Given the description of an element on the screen output the (x, y) to click on. 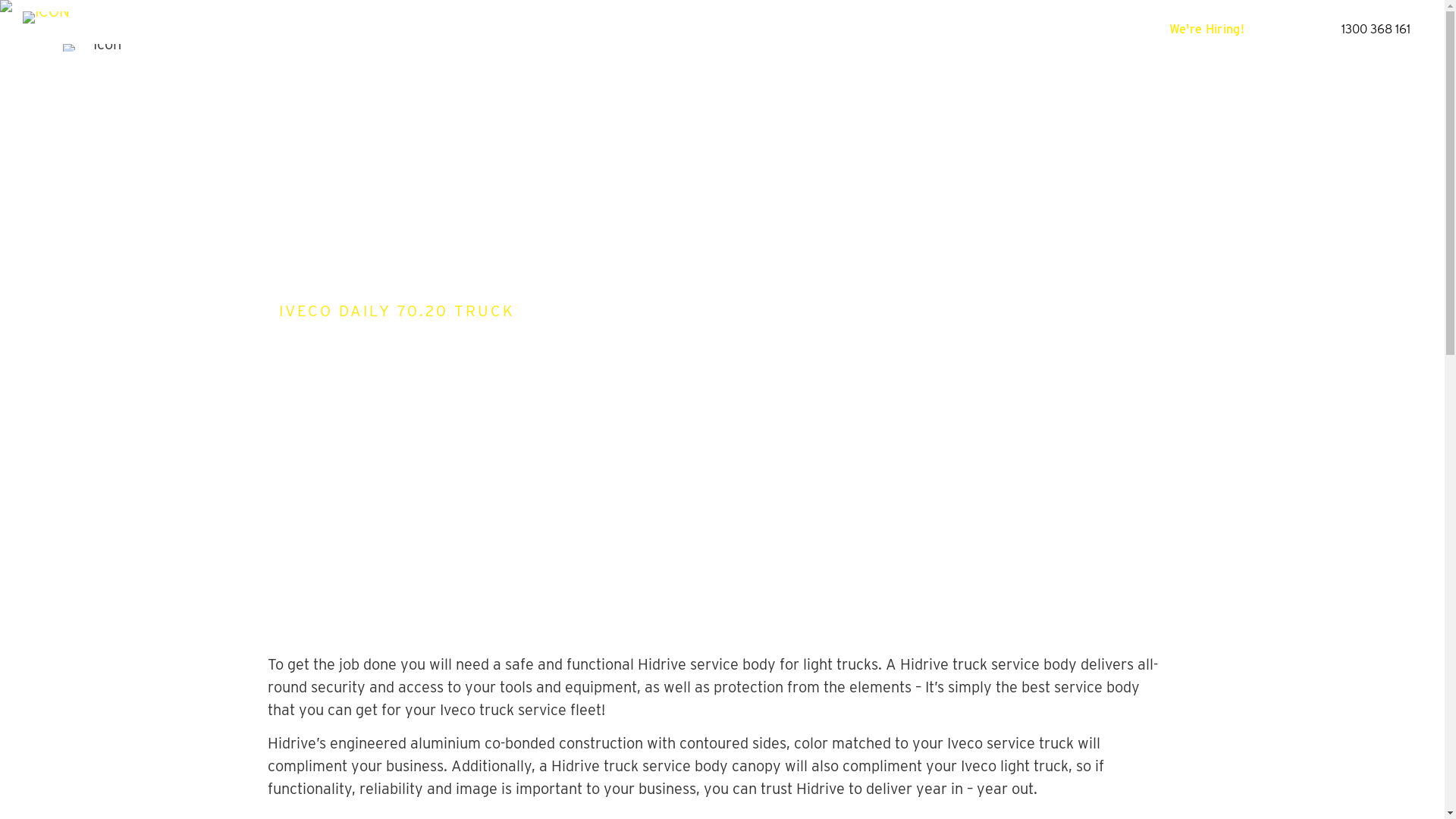
UTE Element type: text (486, 29)
1300 368 161 Element type: text (1375, 28)
TRAILER Element type: text (554, 29)
FLEETS Element type: text (815, 29)
TRUCK Element type: text (631, 29)
ACCESSORIES Element type: text (722, 29)
ABOUT Element type: text (970, 29)
CONTACT Element type: text (1048, 29)
SERVICE Element type: text (894, 29)
We'Re Hiring! Element type: text (1206, 28)
